Given the description of an element on the screen output the (x, y) to click on. 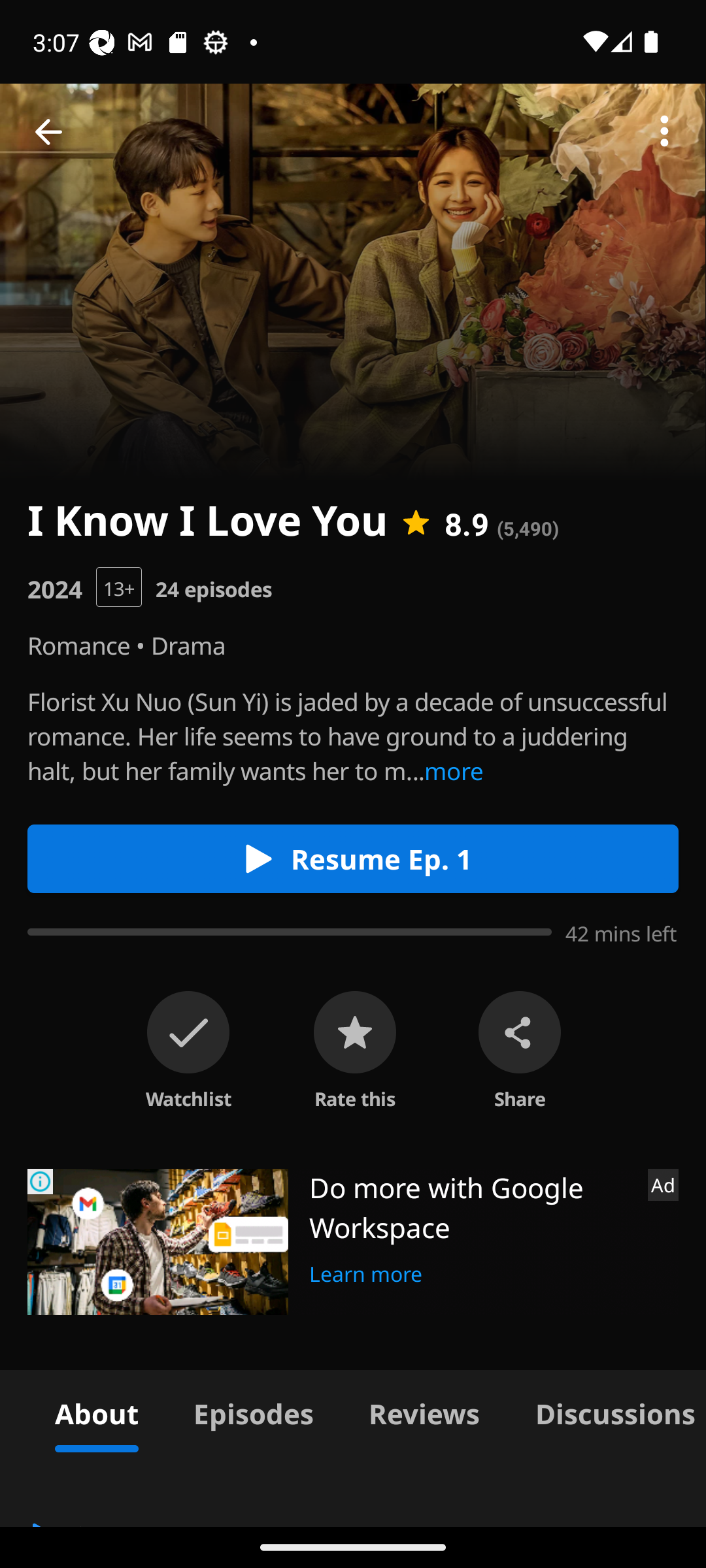
More (664, 131)
on (187, 1032)
Ad Choices Icon (39, 1181)
Do more with Google Workspace (471, 1207)
Learn more (365, 1271)
Episodes (252, 1410)
Reviews (423, 1410)
Discussions (606, 1410)
